Given the description of an element on the screen output the (x, y) to click on. 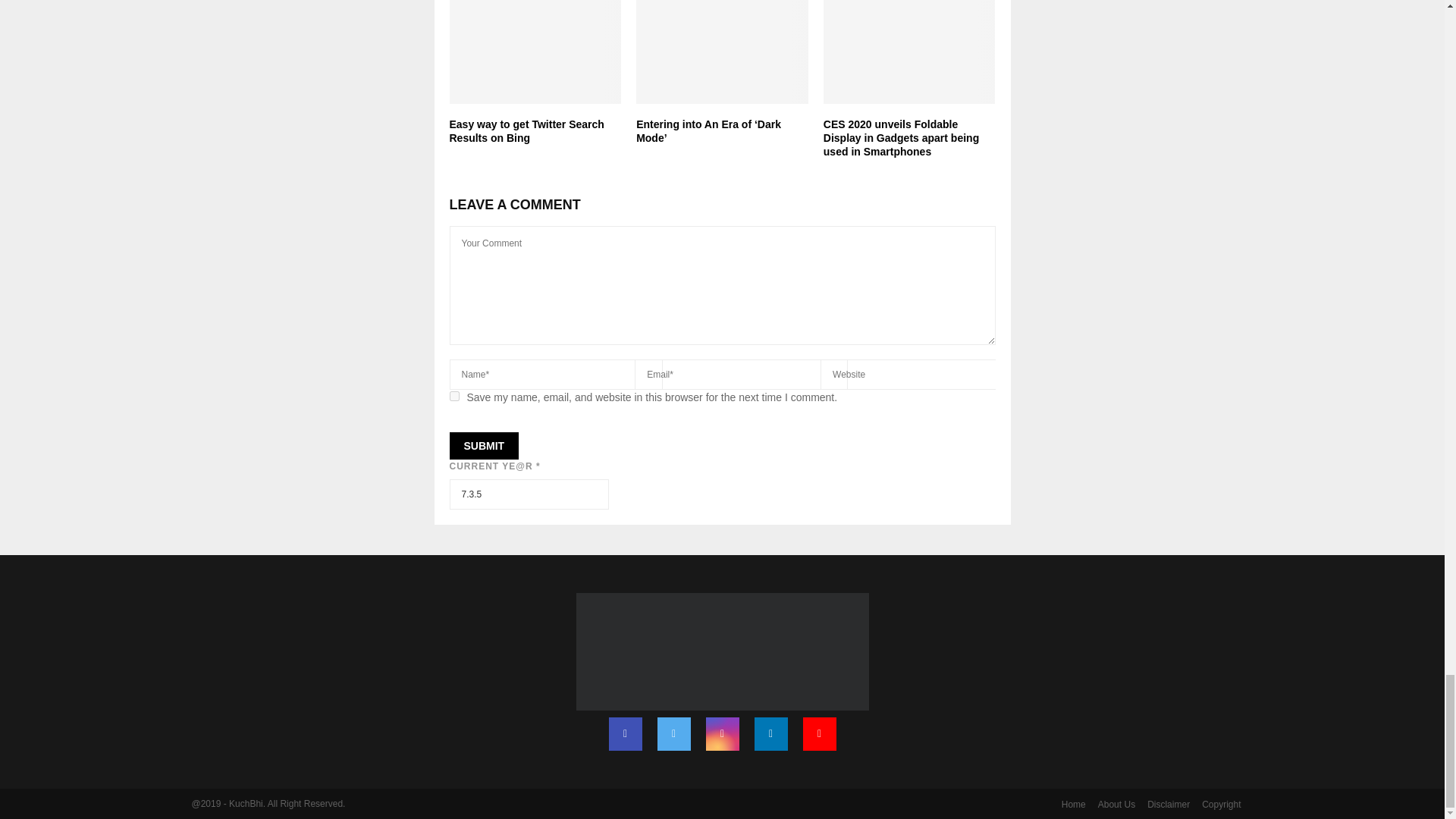
Submit (483, 445)
yes (453, 396)
7.3.5 (528, 494)
